Given the description of an element on the screen output the (x, y) to click on. 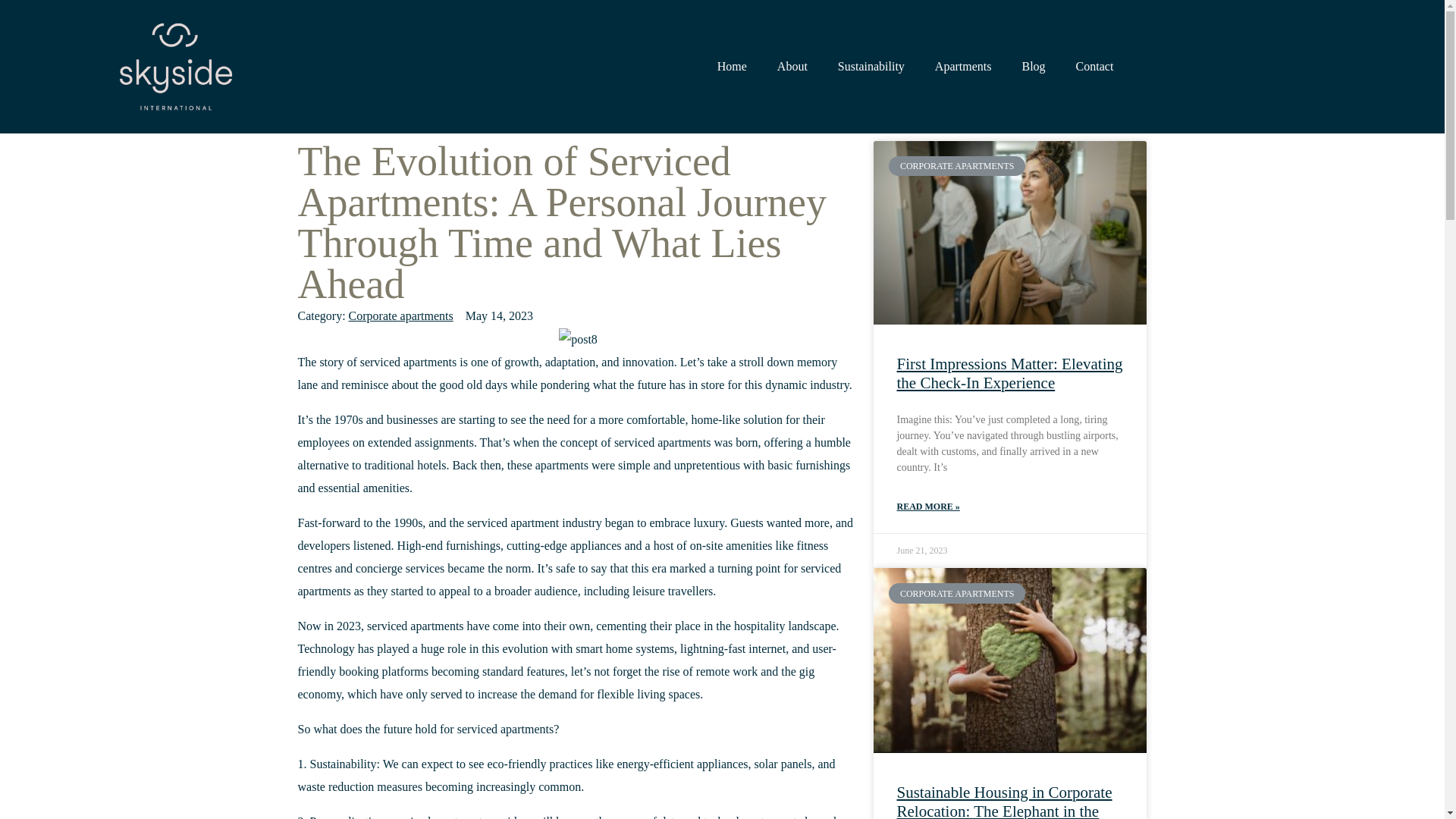
First Impressions Matter: Elevating the Check-In Experience (1009, 373)
Corporate apartments (400, 315)
Sustainability (871, 66)
Apartments (963, 66)
Contact (1095, 66)
Home (731, 66)
post8 (577, 339)
Blog (1032, 66)
About (791, 66)
